Given the description of an element on the screen output the (x, y) to click on. 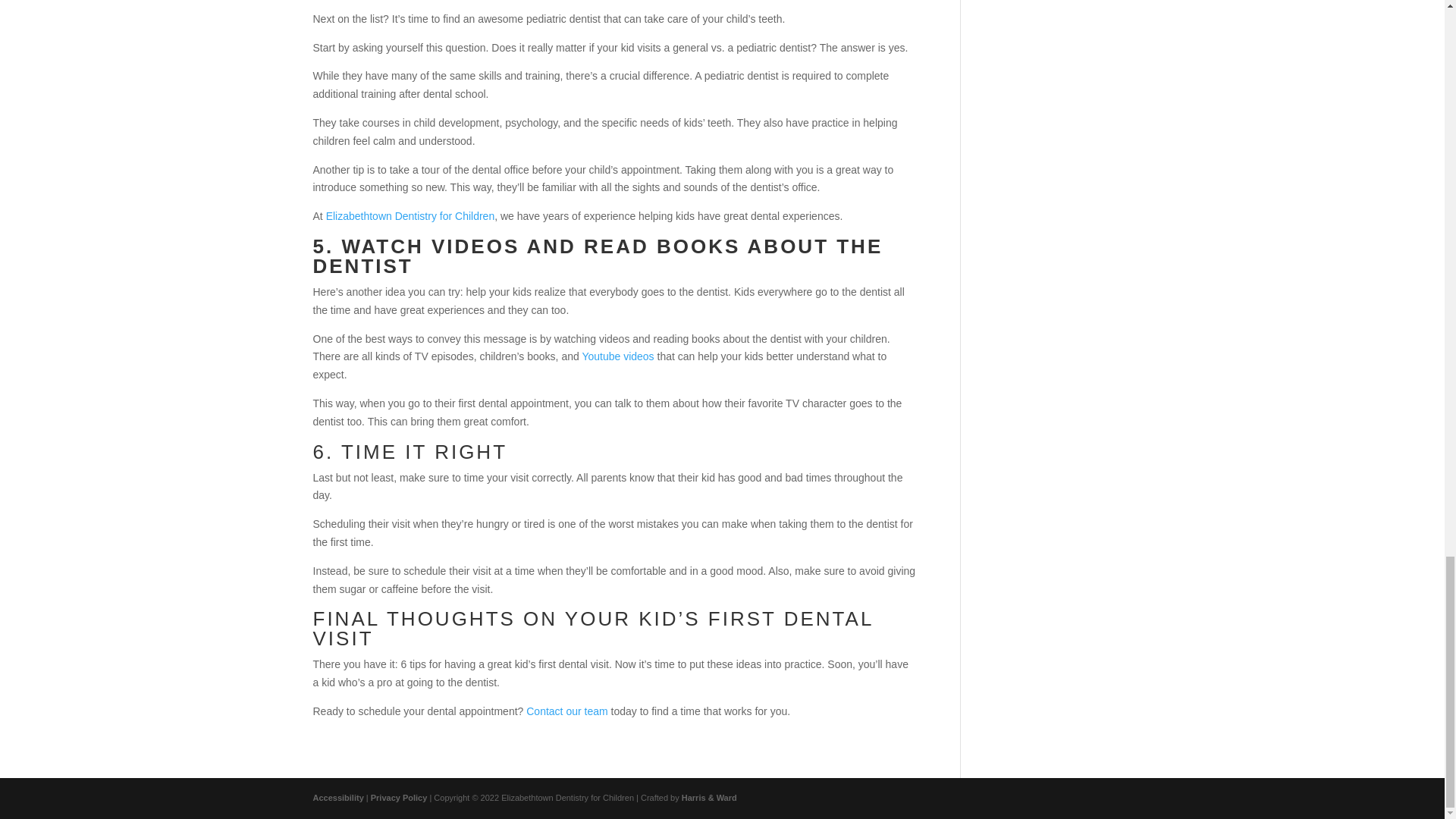
Elizabethtown Dentistry for Children (410, 215)
Contact our team (566, 711)
Youtube videos (616, 356)
